Given the description of an element on the screen output the (x, y) to click on. 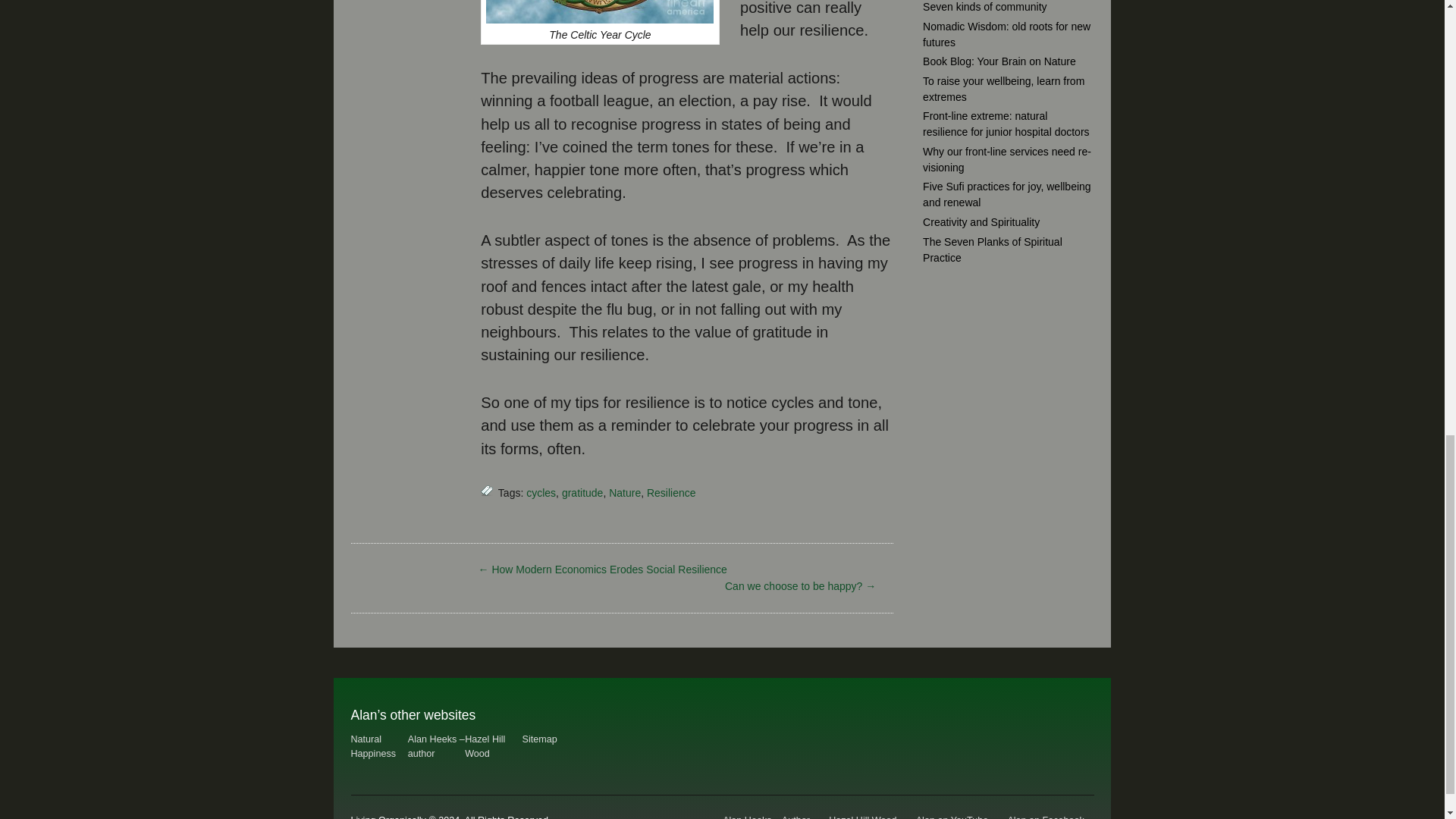
The Celtic Year Cycle (599, 17)
Seven kinds of community (984, 6)
Resilience (670, 492)
gratitude (582, 492)
Nature (624, 492)
Nomadic Wisdom: old roots for new futures (1006, 34)
cycles (540, 492)
